Given the description of an element on the screen output the (x, y) to click on. 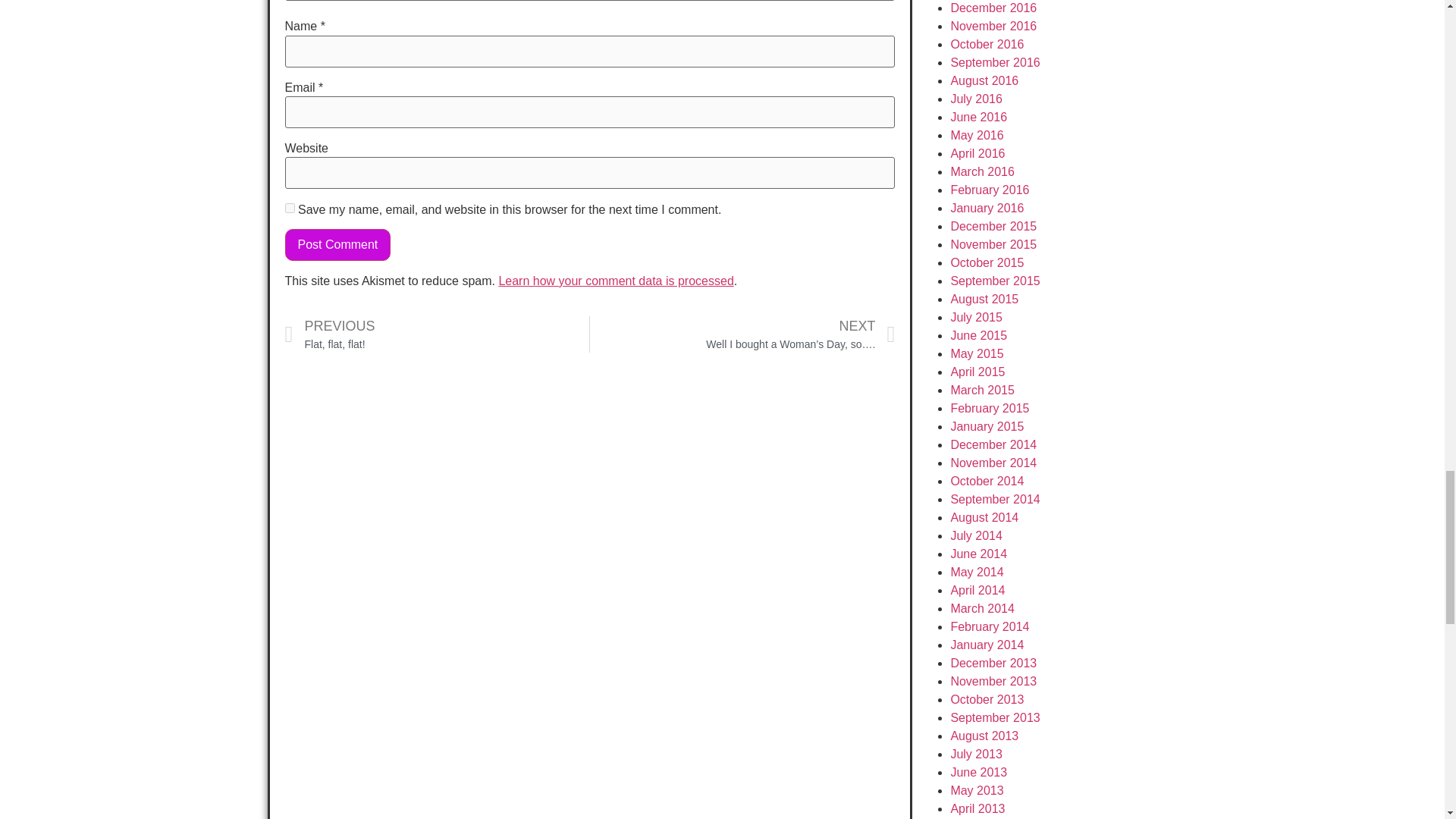
Learn how your comment data is processed (615, 280)
yes (290, 207)
Post Comment (338, 245)
Post Comment (338, 245)
